Given the description of an element on the screen output the (x, y) to click on. 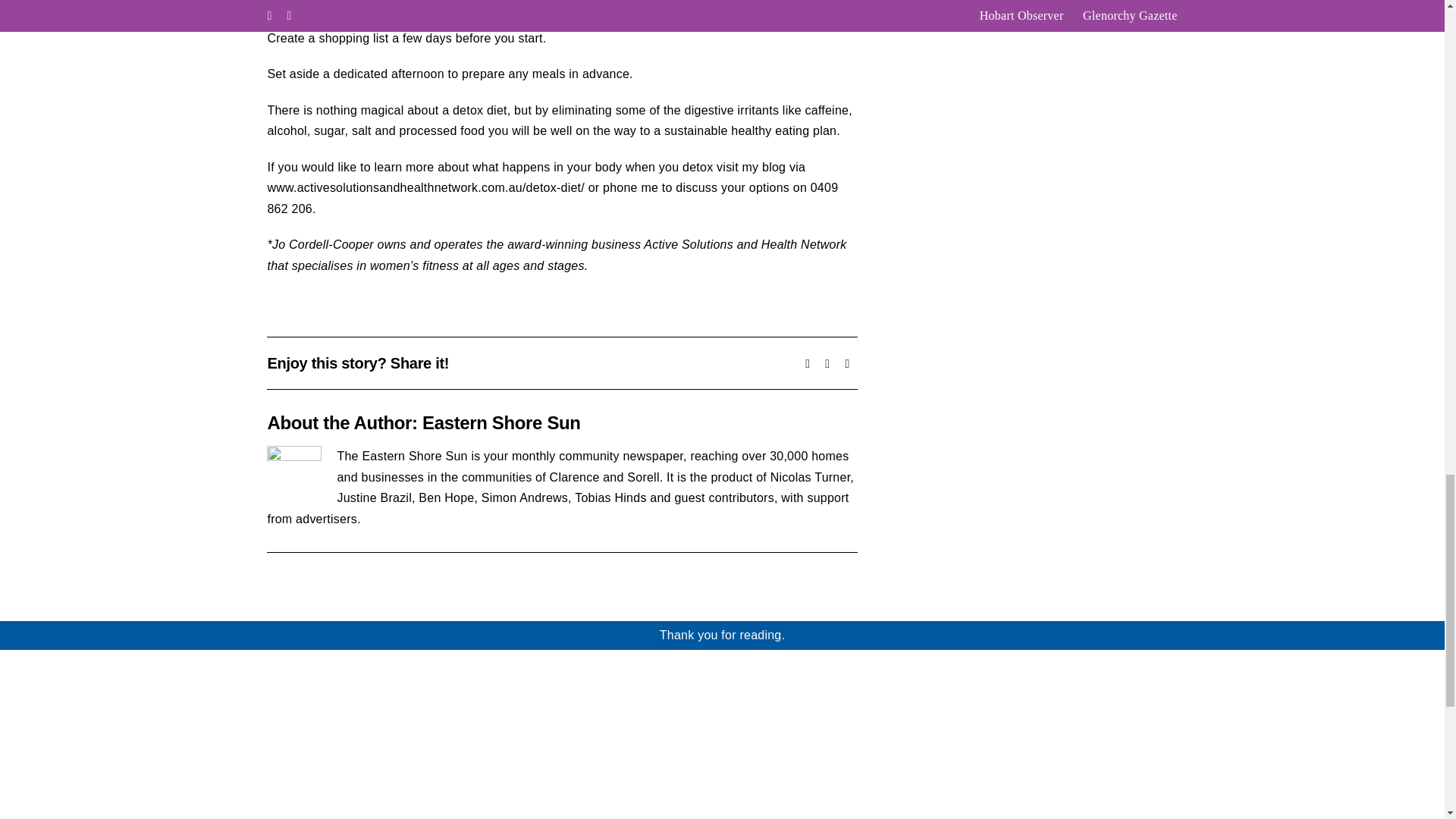
Twitter (826, 363)
Email (847, 363)
Facebook (806, 363)
Eastern Shore Sun (501, 422)
